Given the description of an element on the screen output the (x, y) to click on. 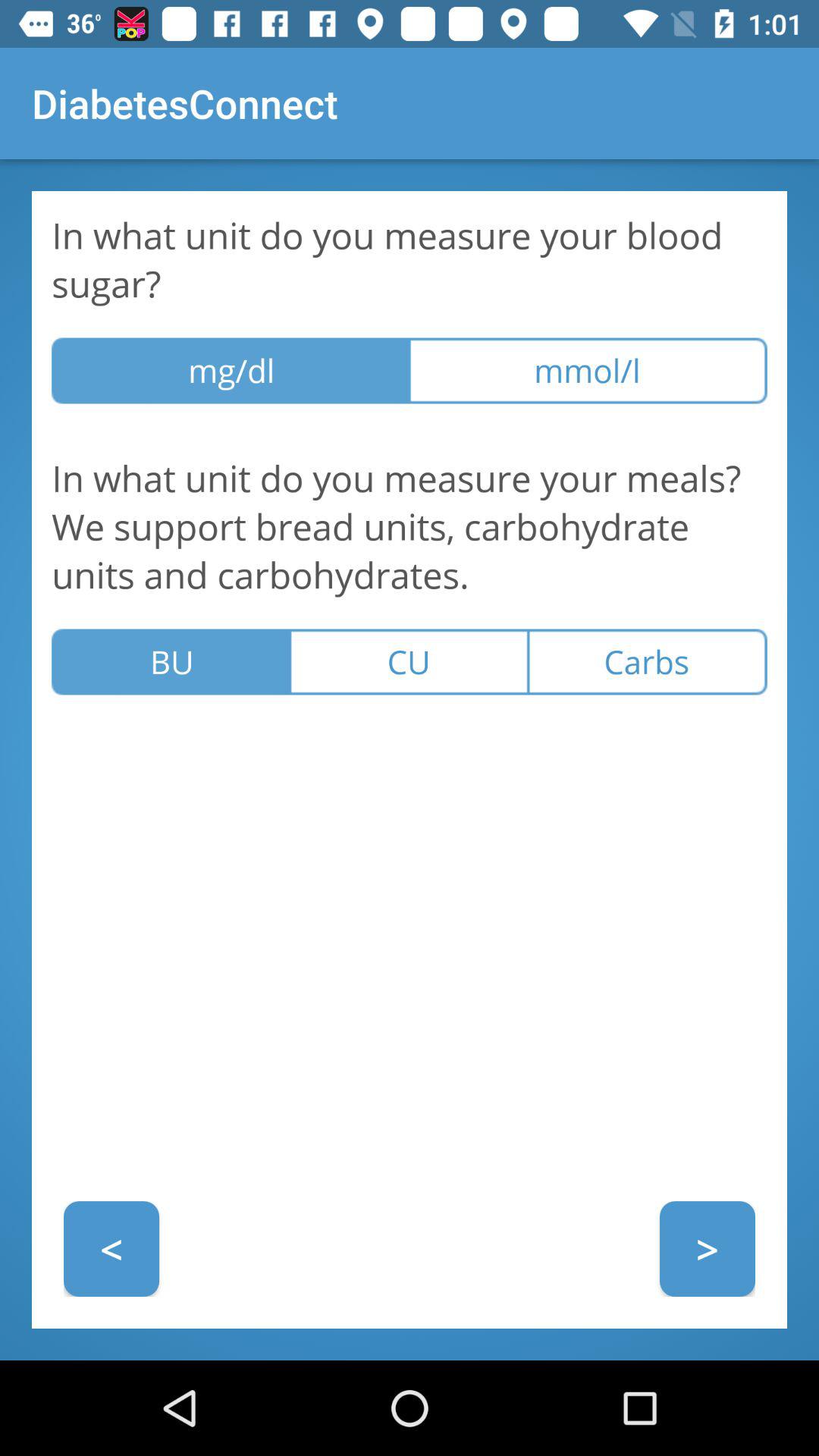
choose the < icon (111, 1248)
